Given the description of an element on the screen output the (x, y) to click on. 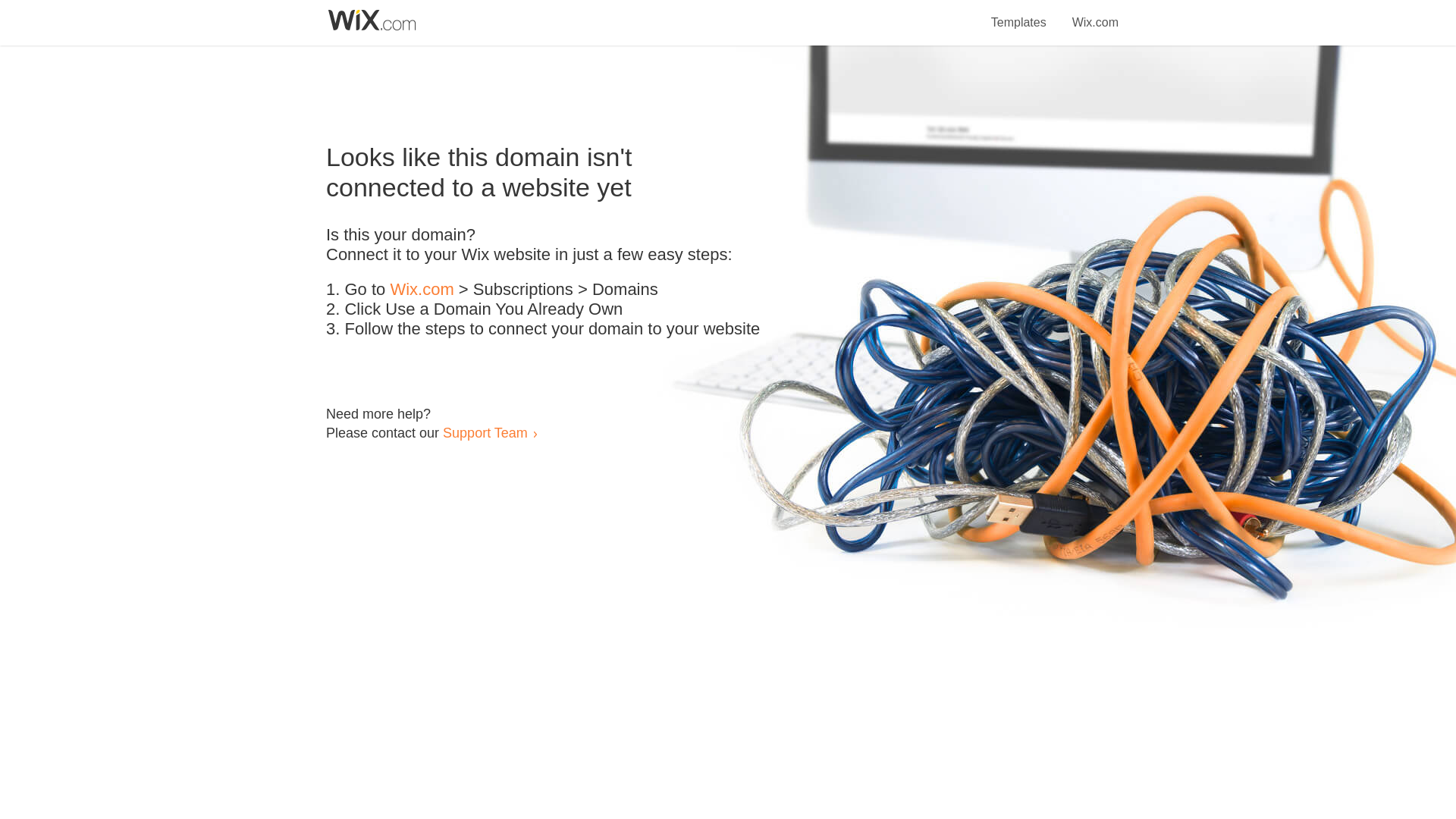
Templates (1018, 14)
Wix.com (421, 289)
Support Team (484, 432)
Wix.com (1095, 14)
